Given the description of an element on the screen output the (x, y) to click on. 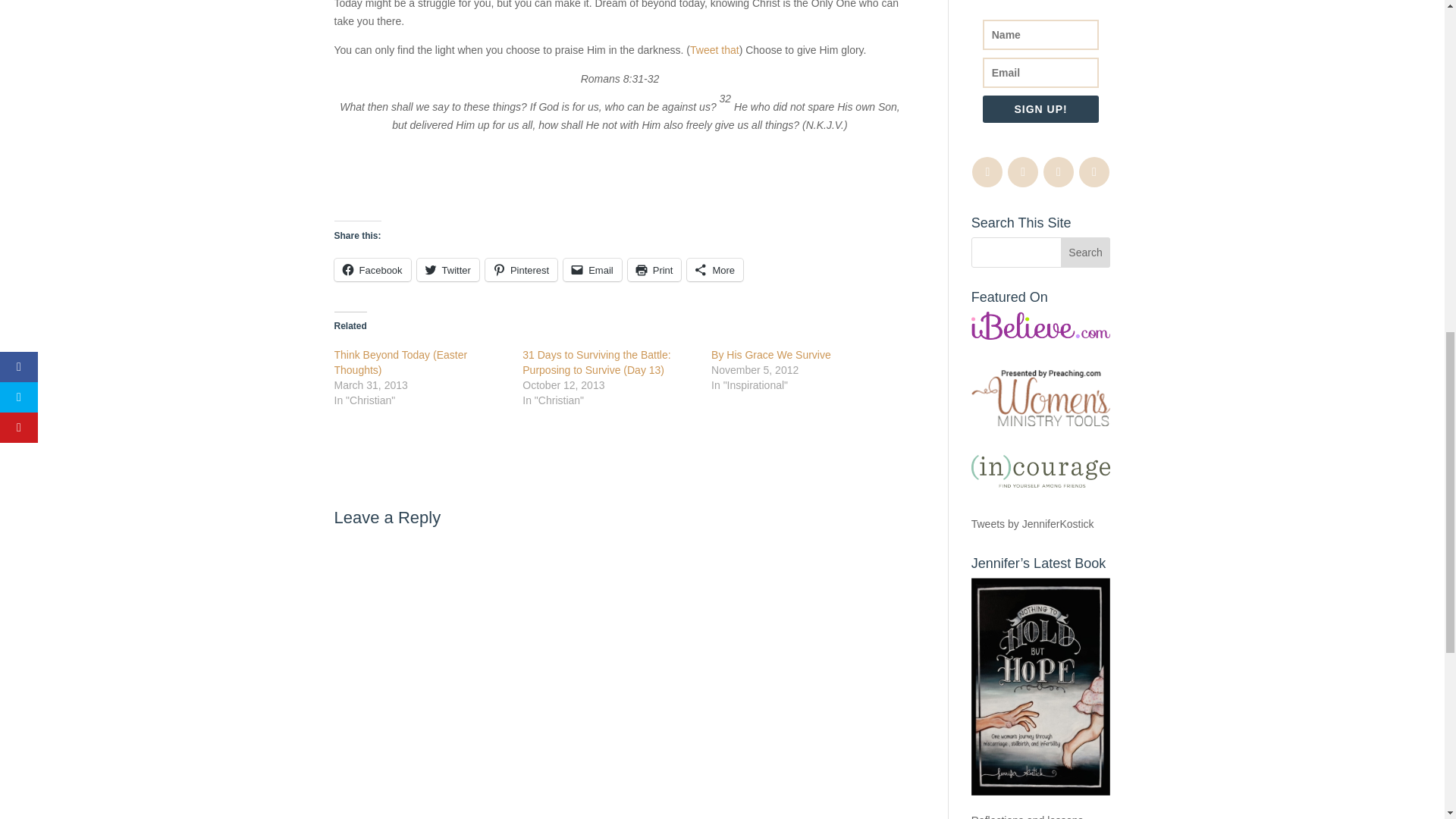
Click to share on Twitter (447, 269)
Click to share on Pinterest (520, 269)
By His Grace We Survive (771, 354)
Search (1085, 252)
Pinterest (520, 269)
Click to email a link to a friend (592, 269)
Email (592, 269)
More (714, 269)
SIGN UP! (1040, 108)
Print (654, 269)
